Given the description of an element on the screen output the (x, y) to click on. 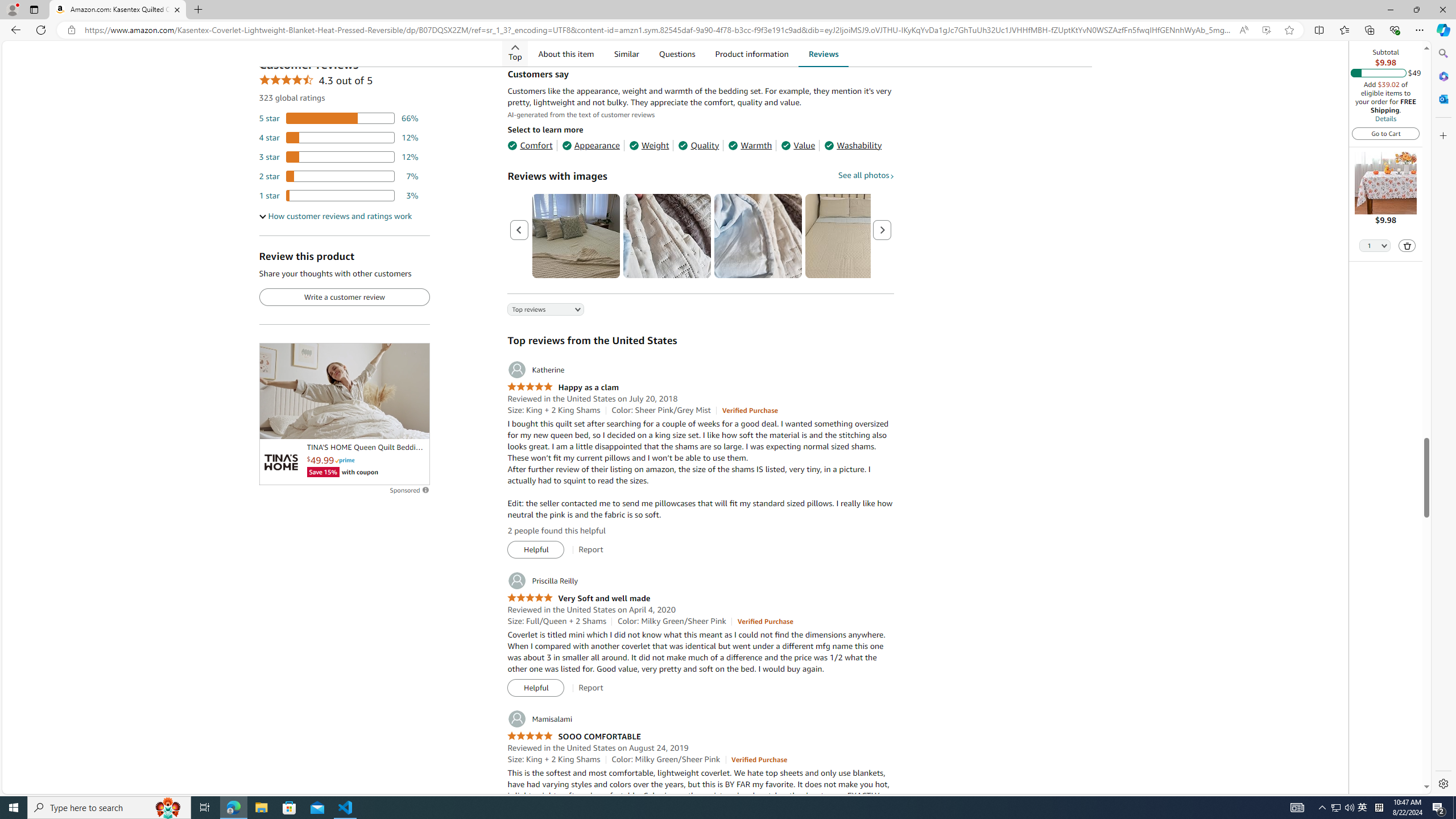
Similar (625, 53)
How customer reviews and ratings work (335, 215)
Customer Image (758, 235)
66 percent of reviews have 5 stars (339, 117)
Previous page (518, 230)
Comfort (529, 145)
Mamisalami (539, 718)
Washability (853, 145)
Helpful (536, 687)
